Given the description of an element on the screen output the (x, y) to click on. 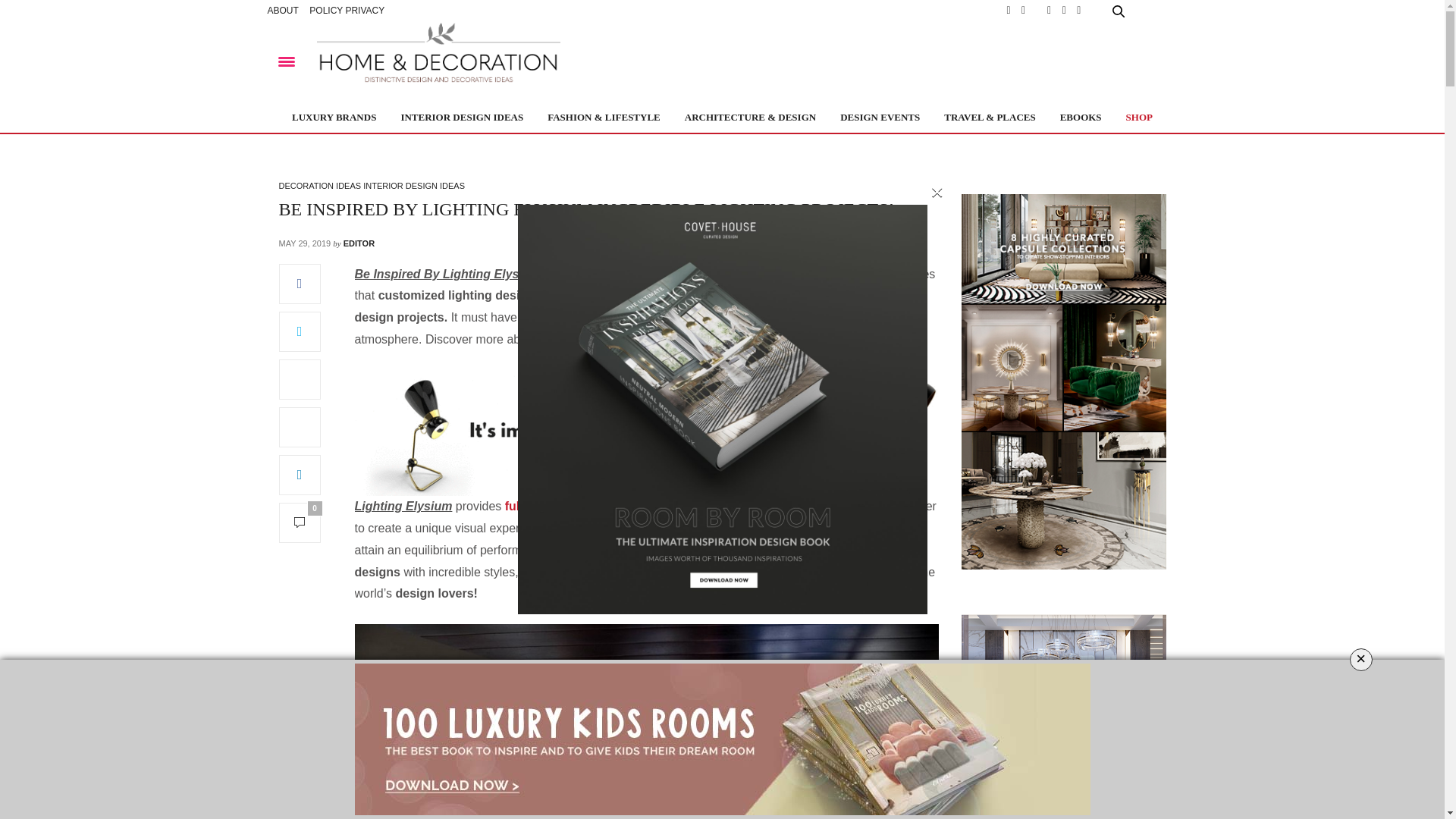
LUXURY BRANDS (333, 117)
Posts by editor (358, 243)
POLICY PRIVACY (346, 11)
INTERIOR DESIGN IDEAS (461, 117)
ABOUT (282, 11)
Home And Decoration (438, 61)
